Given the description of an element on the screen output the (x, y) to click on. 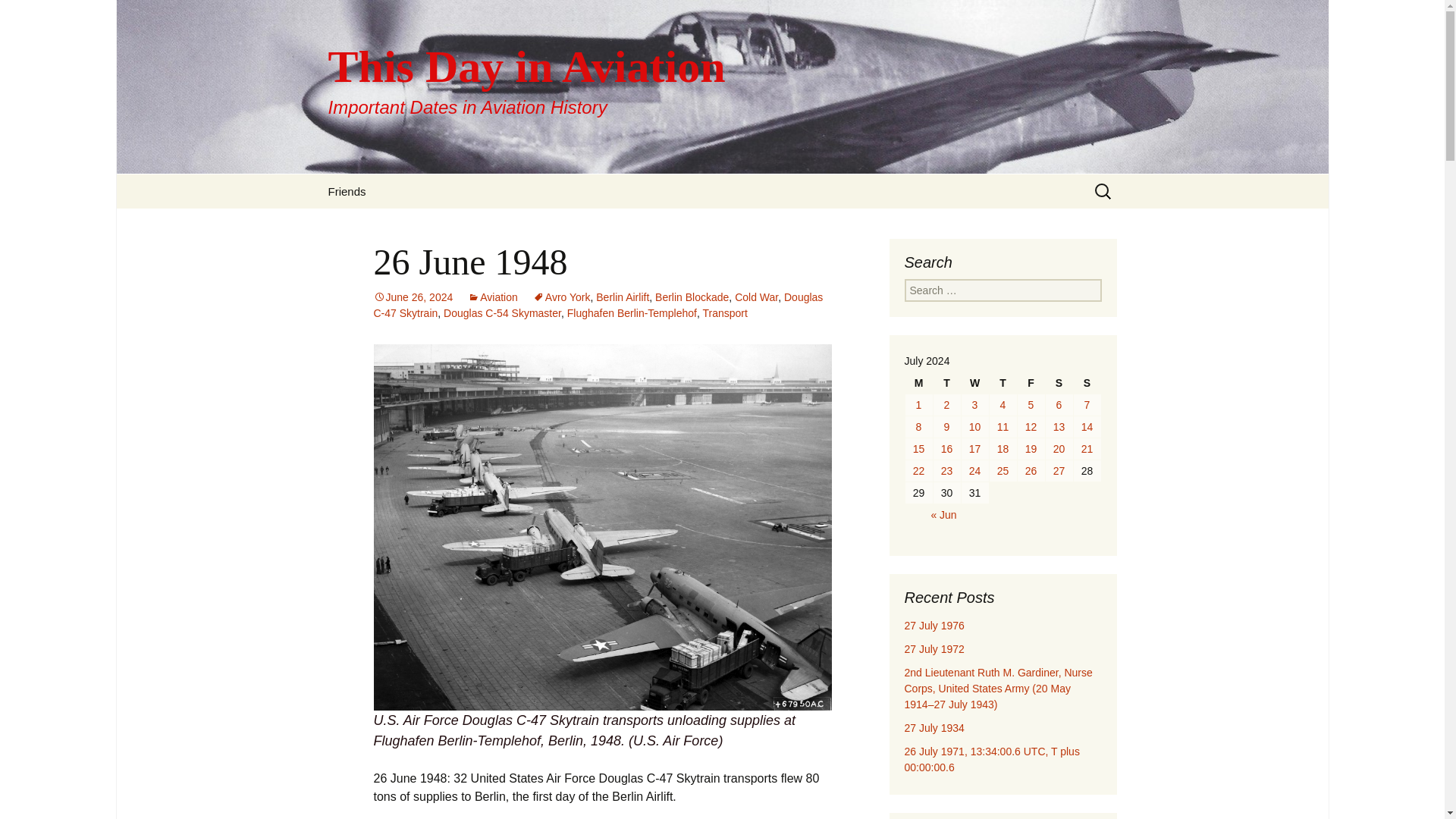
Berlin Blockade (692, 297)
Berlin Airlift (622, 297)
Search (18, 15)
Tuesday (946, 382)
Douglas C-54 Skymaster (502, 313)
Cold War (756, 297)
Transport (723, 313)
Douglas C-47 Skytrain (597, 305)
Avro York (561, 297)
Monday (919, 382)
Flughafen Berlin-Templehof (632, 313)
Permalink to 26 June 1948 (412, 297)
Aviation (492, 297)
Friends (346, 191)
June 26, 2024 (412, 297)
